Given the description of an element on the screen output the (x, y) to click on. 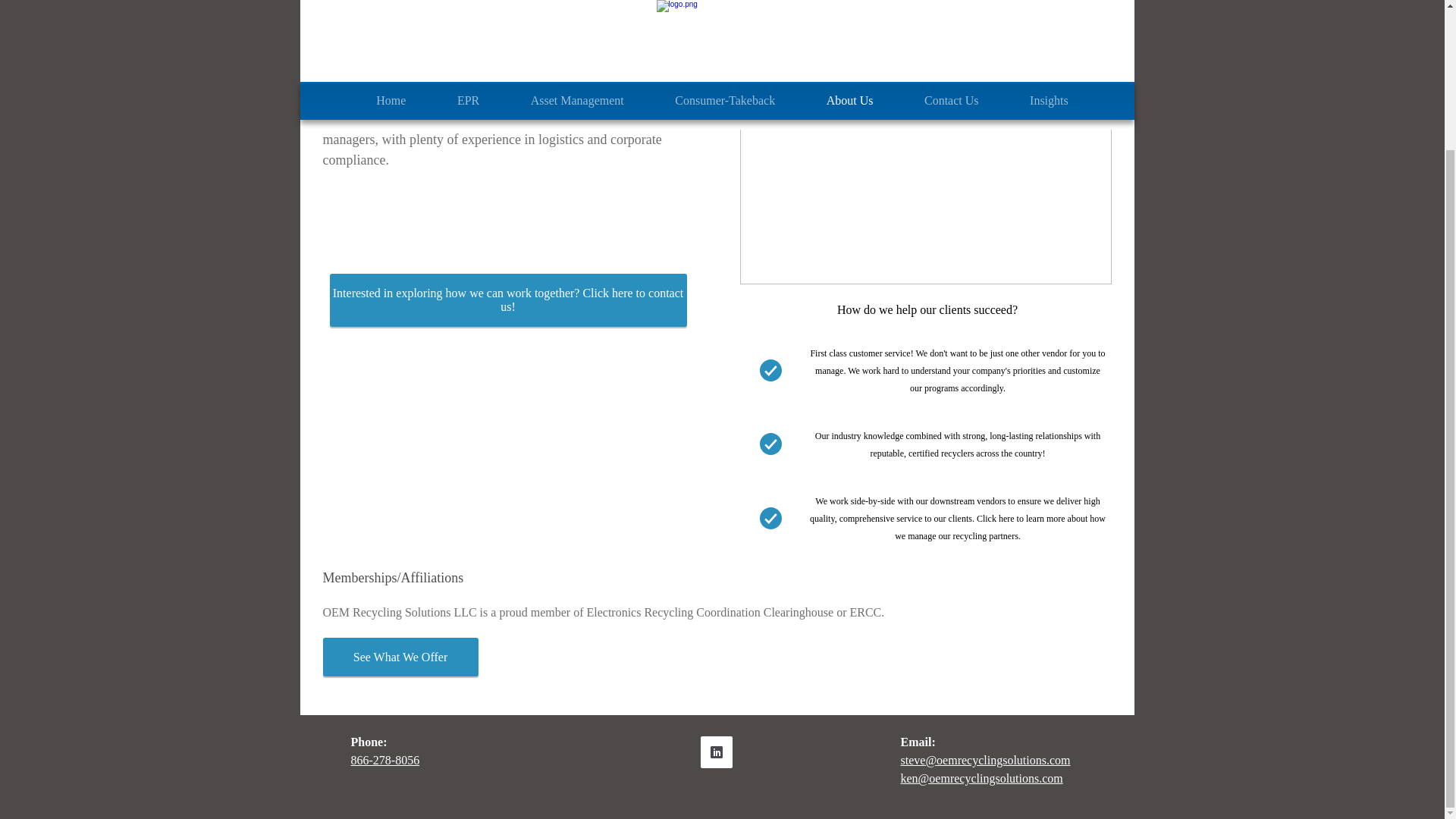
866-278-8056 (384, 761)
See What We Offer (401, 657)
